Given the description of an element on the screen output the (x, y) to click on. 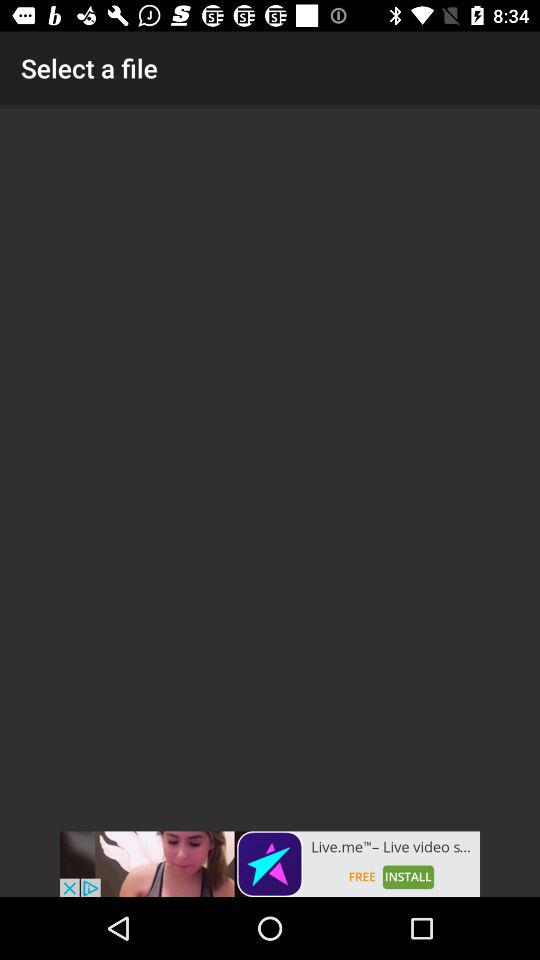
go to advertisement 's website (270, 864)
